Given the description of an element on the screen output the (x, y) to click on. 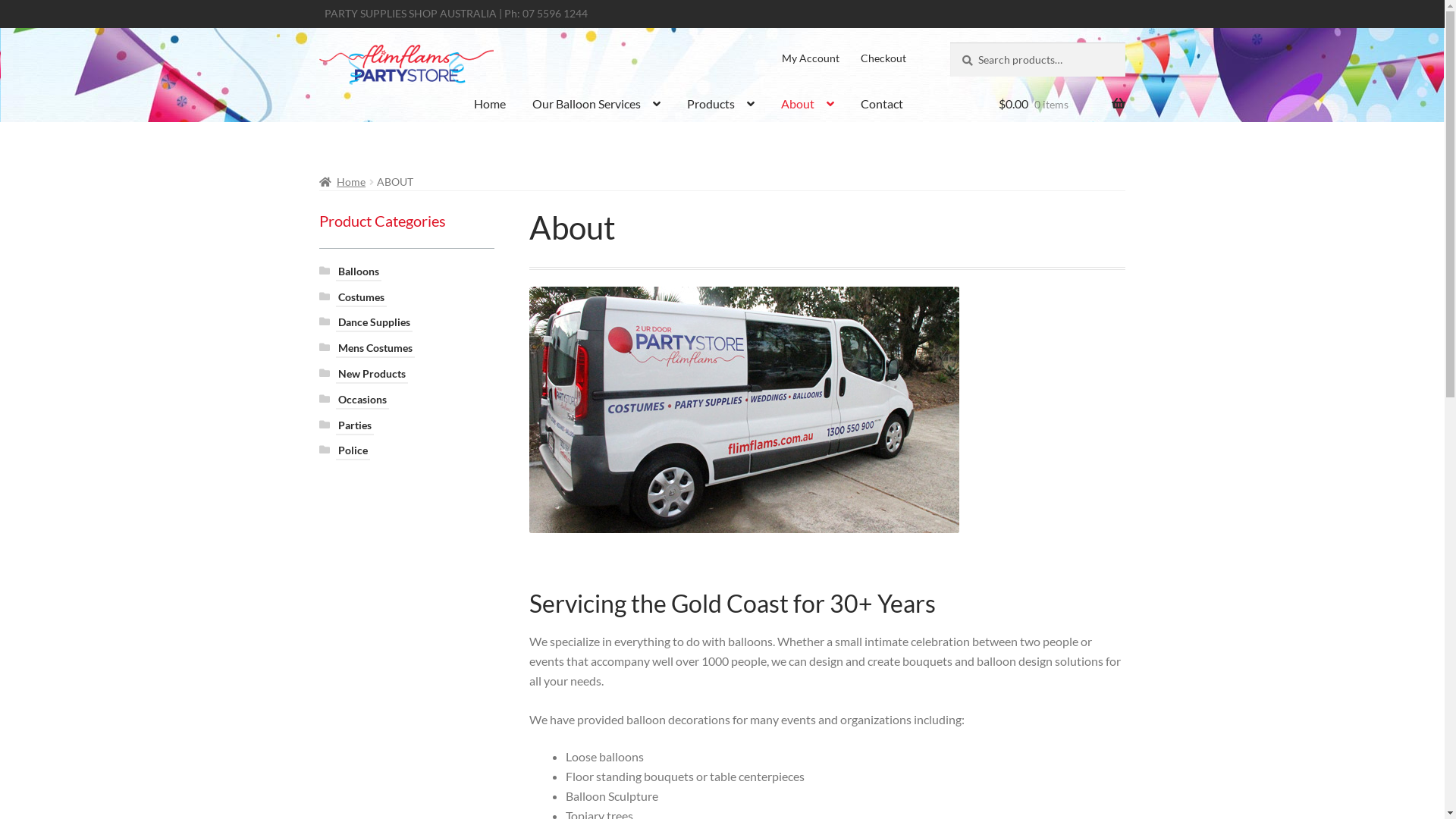
Skip to navigation Element type: text (318, 41)
Mens Costumes Element type: text (374, 347)
Occasions Element type: text (362, 399)
Contact Element type: text (881, 107)
My Account Element type: text (810, 58)
Police Element type: text (352, 450)
Home Element type: text (342, 181)
Products Element type: text (720, 108)
Search Element type: text (949, 41)
Balloons Element type: text (358, 271)
Costumes Element type: text (360, 297)
New Products Element type: text (371, 373)
Our Balloon Services Element type: text (596, 108)
Checkout Element type: text (882, 58)
About Element type: text (807, 108)
Home Element type: text (489, 107)
Dance Supplies Element type: text (373, 322)
$0.00 0 items Element type: text (1061, 107)
Parties Element type: text (354, 425)
